Given the description of an element on the screen output the (x, y) to click on. 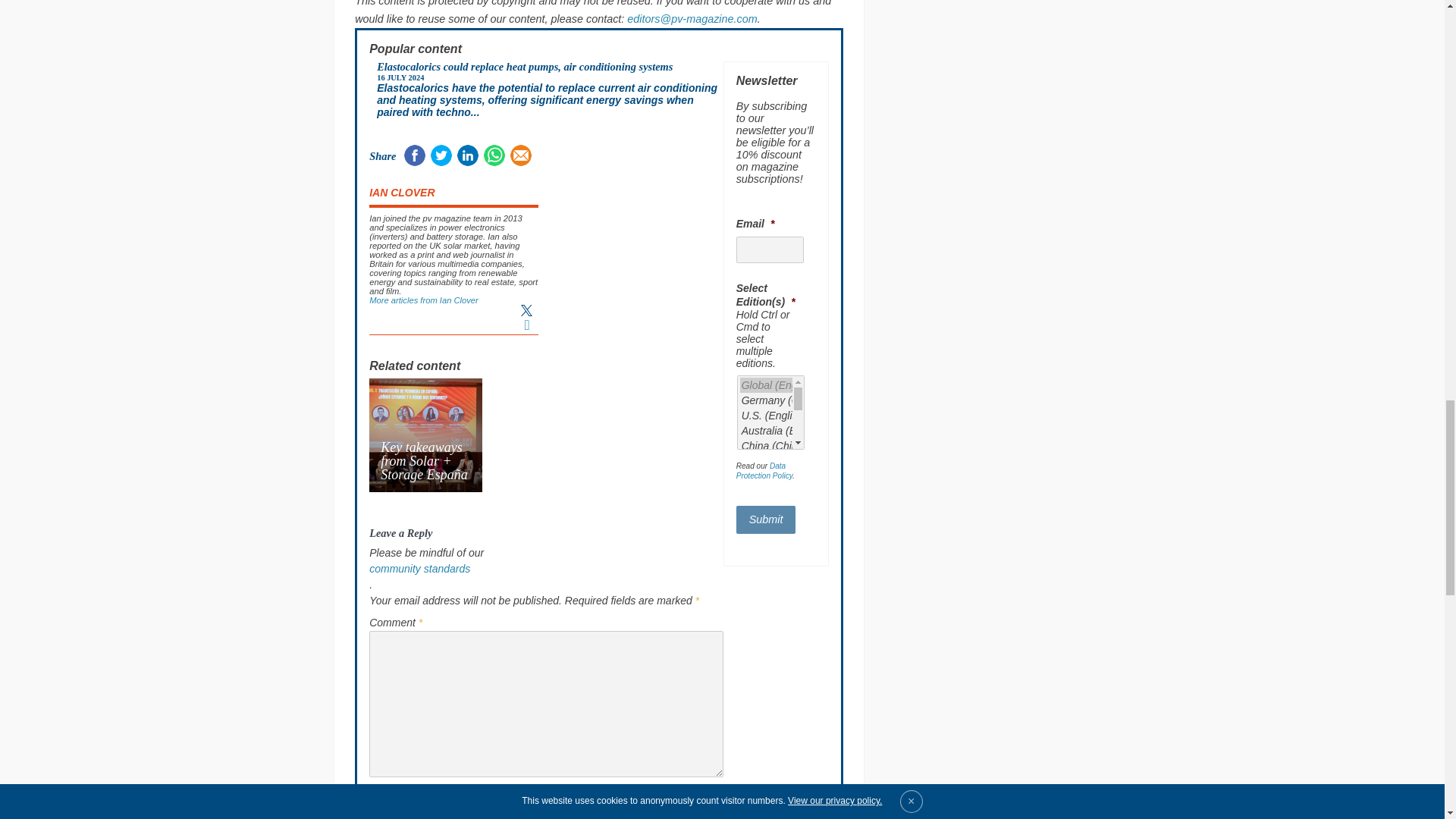
Submit (766, 519)
